Given the description of an element on the screen output the (x, y) to click on. 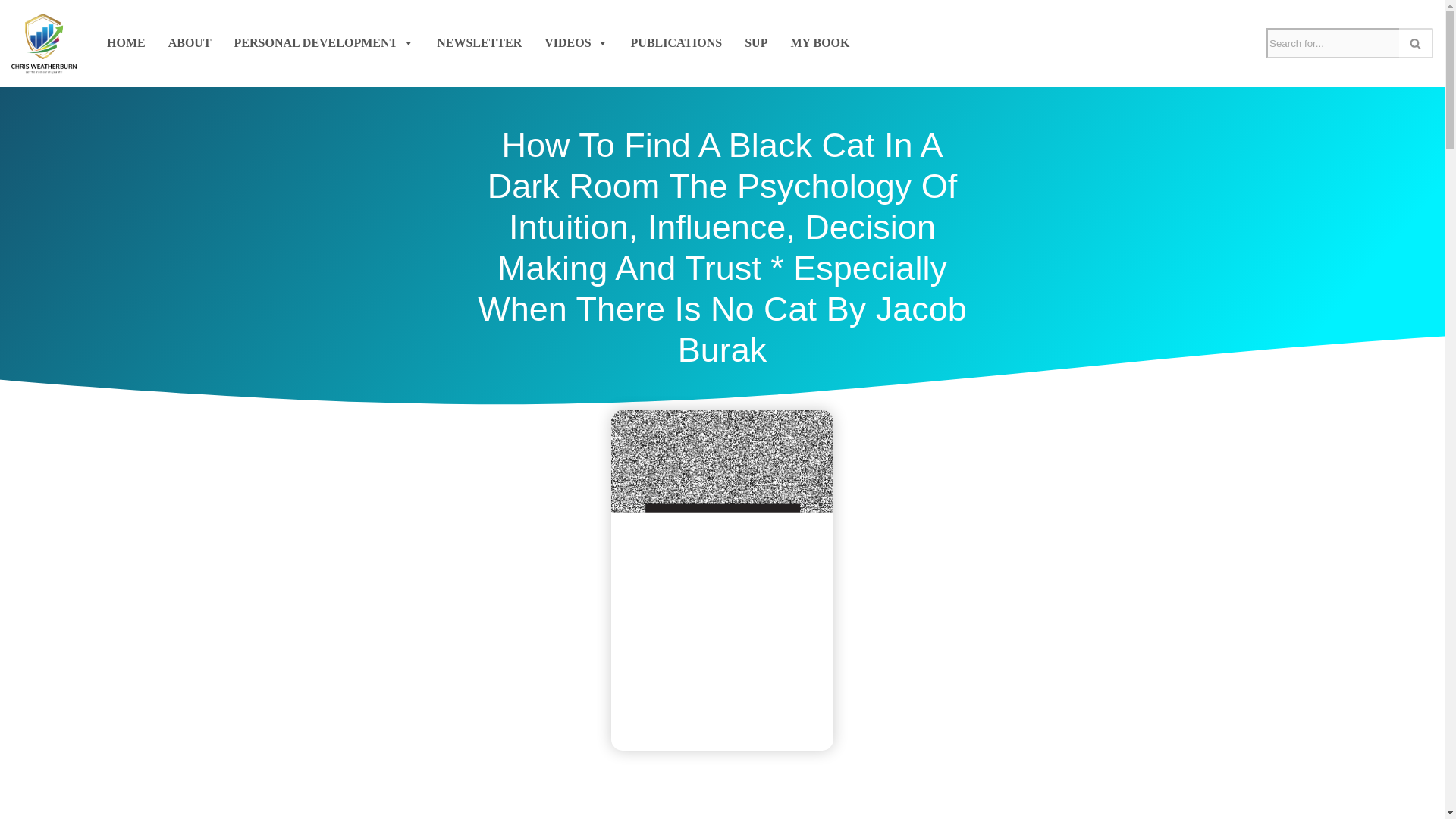
VIDEOS (575, 42)
MY BOOK (820, 42)
ABOUT (189, 42)
Skip to content (11, 31)
PUBLICATIONS (676, 42)
HOME (125, 42)
NEWSLETTER (479, 42)
PERSONAL DEVELOPMENT (324, 42)
